Given the description of an element on the screen output the (x, y) to click on. 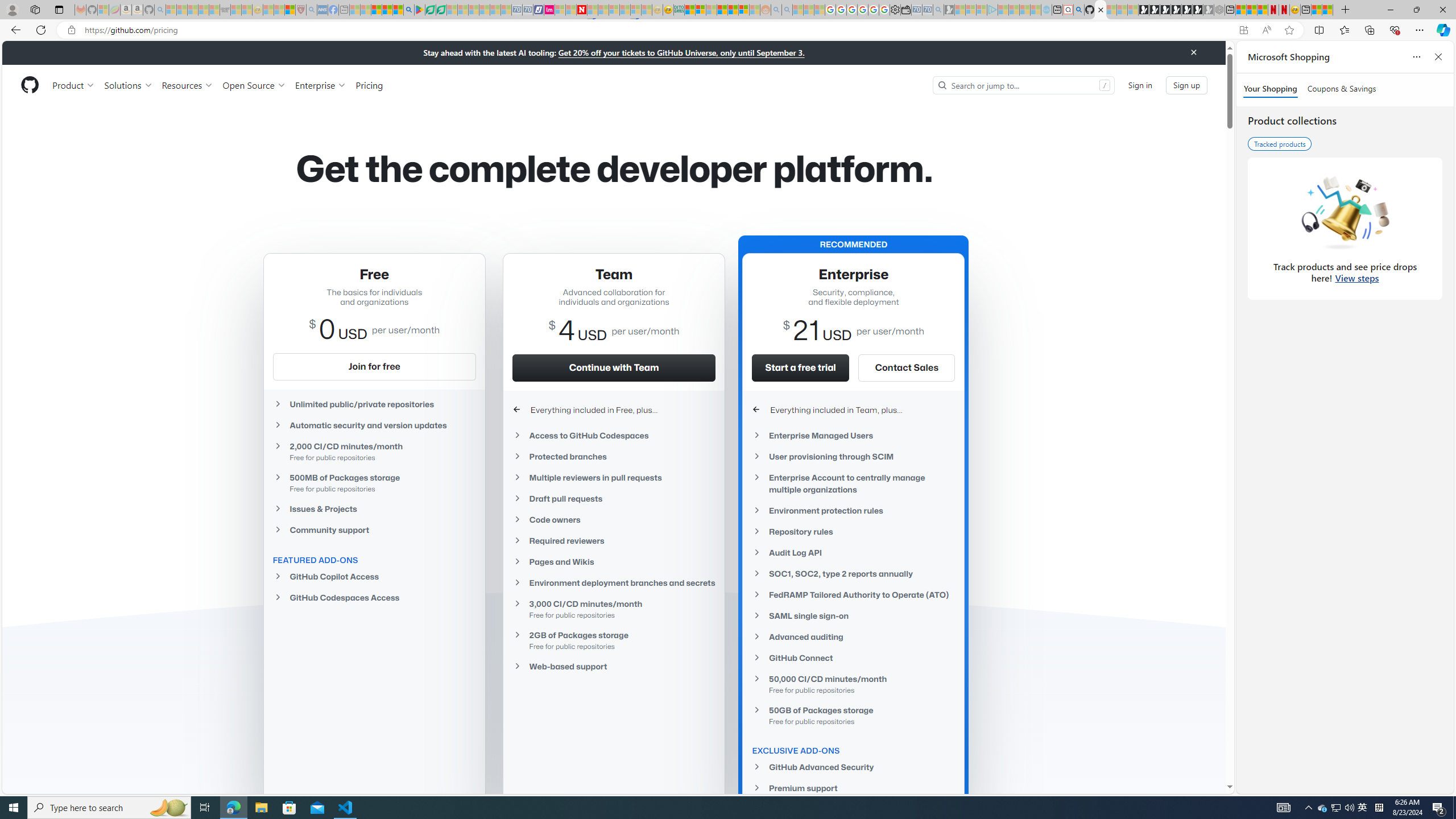
3,000 CI/CD minutes/monthFree for public repositories (614, 608)
Required reviewers (614, 540)
GitHub Codespaces Access (374, 597)
50GB of Packages storageFree for public repositories (853, 714)
SAML single sign-on (853, 615)
Issues & Projects (374, 508)
